Given the description of an element on the screen output the (x, y) to click on. 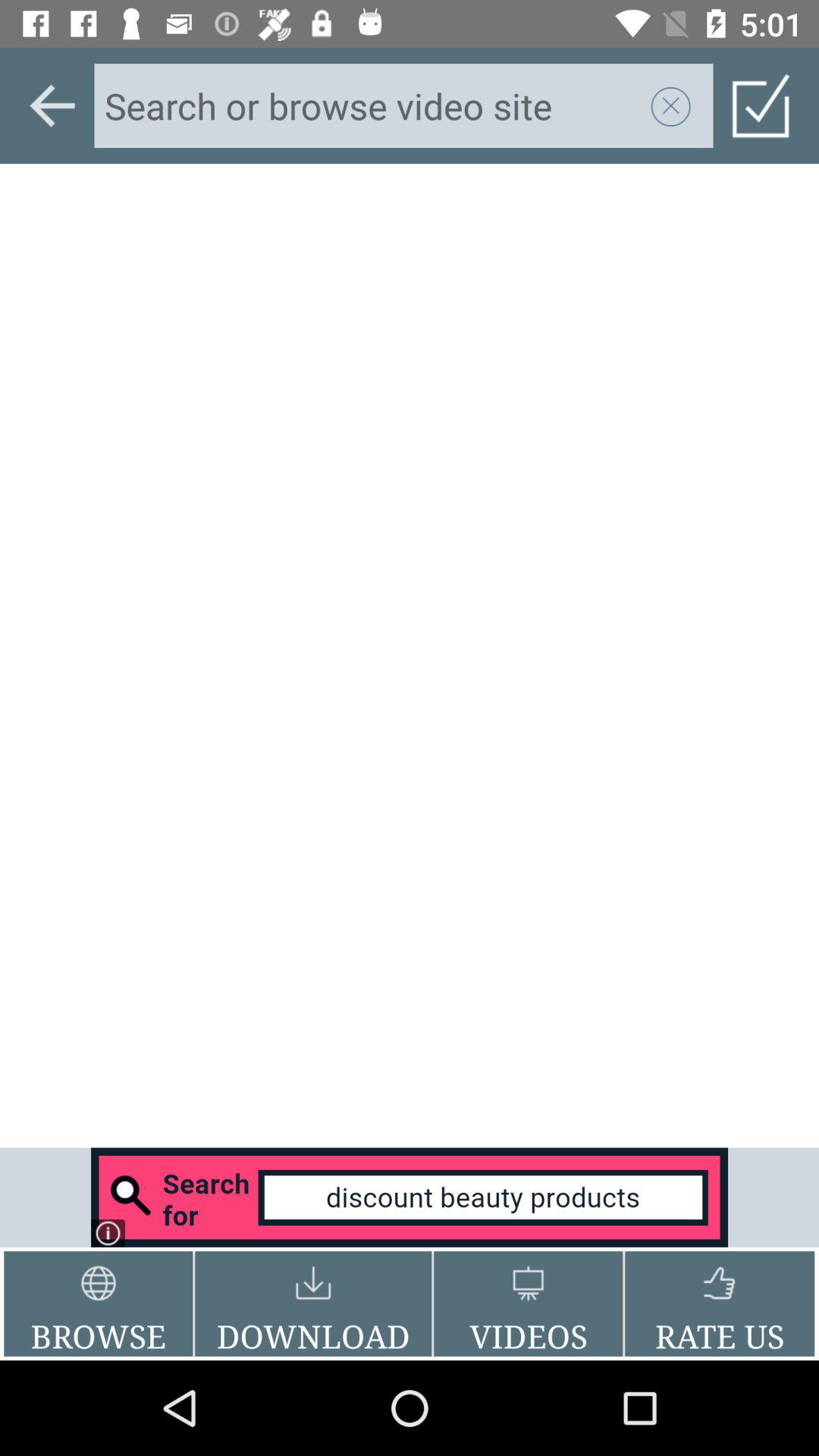
cancel search (670, 105)
